Given the description of an element on the screen output the (x, y) to click on. 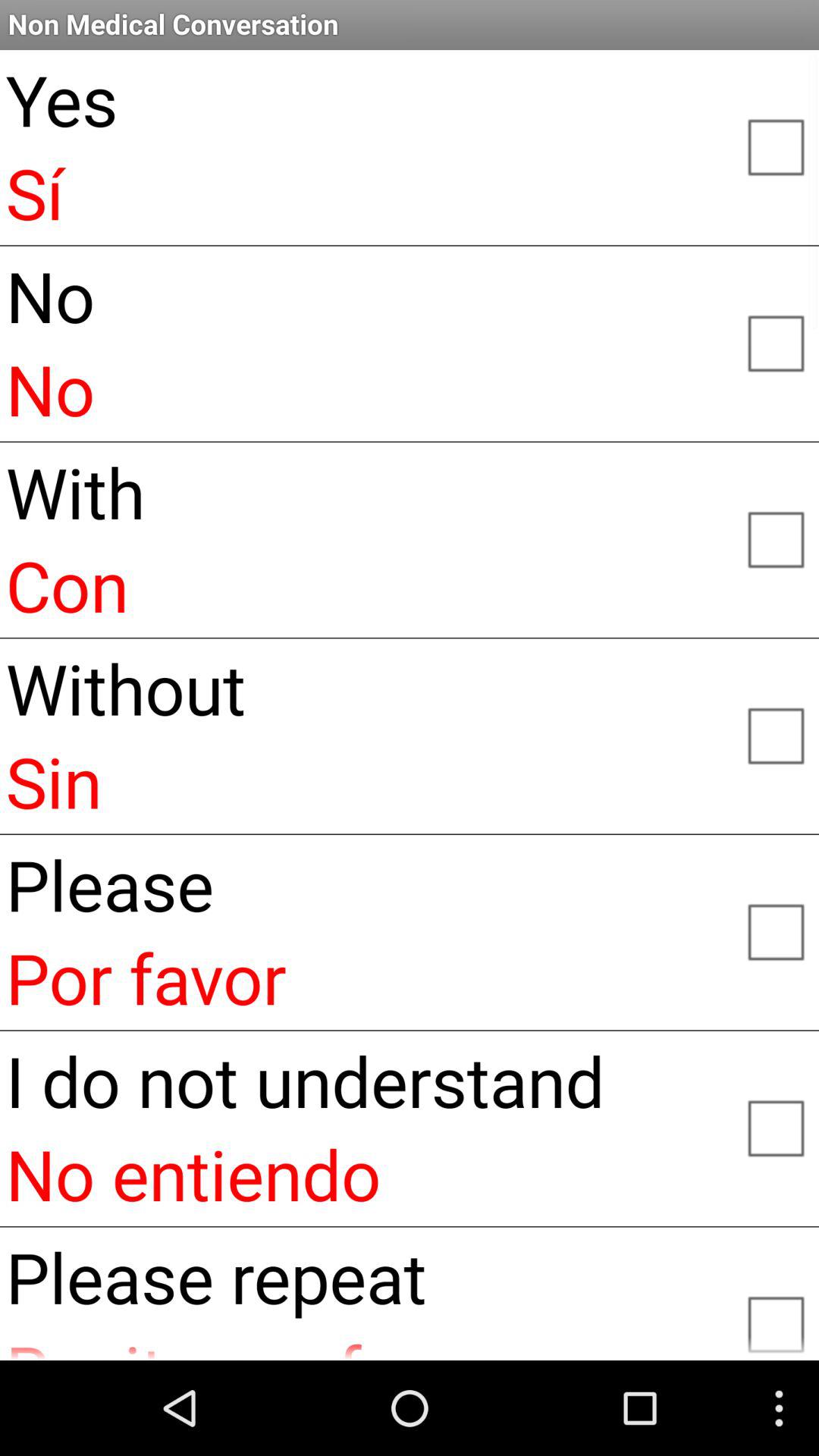
selection box (775, 538)
